Given the description of an element on the screen output the (x, y) to click on. 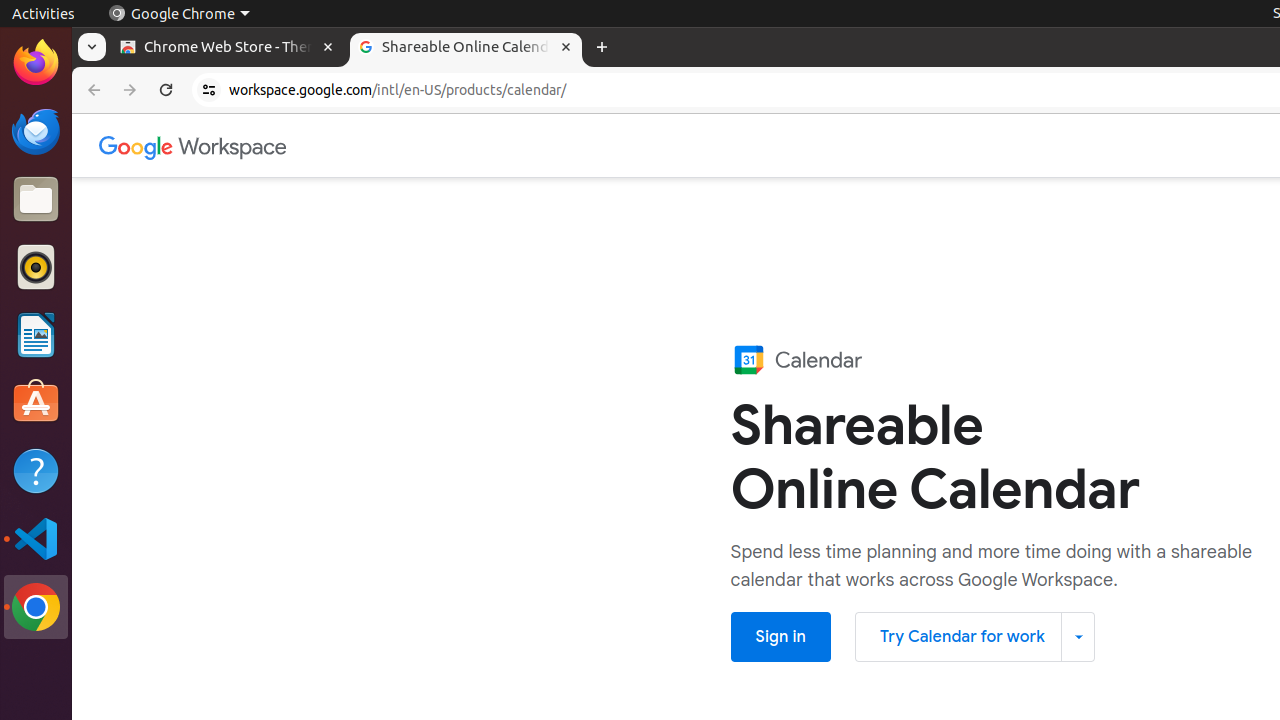
Files Element type: push-button (36, 199)
Back Element type: push-button (91, 90)
Google Chrome Element type: menu (179, 13)
Google Chrome Element type: push-button (36, 607)
Firefox Web Browser Element type: push-button (36, 63)
